Given the description of an element on the screen output the (x, y) to click on. 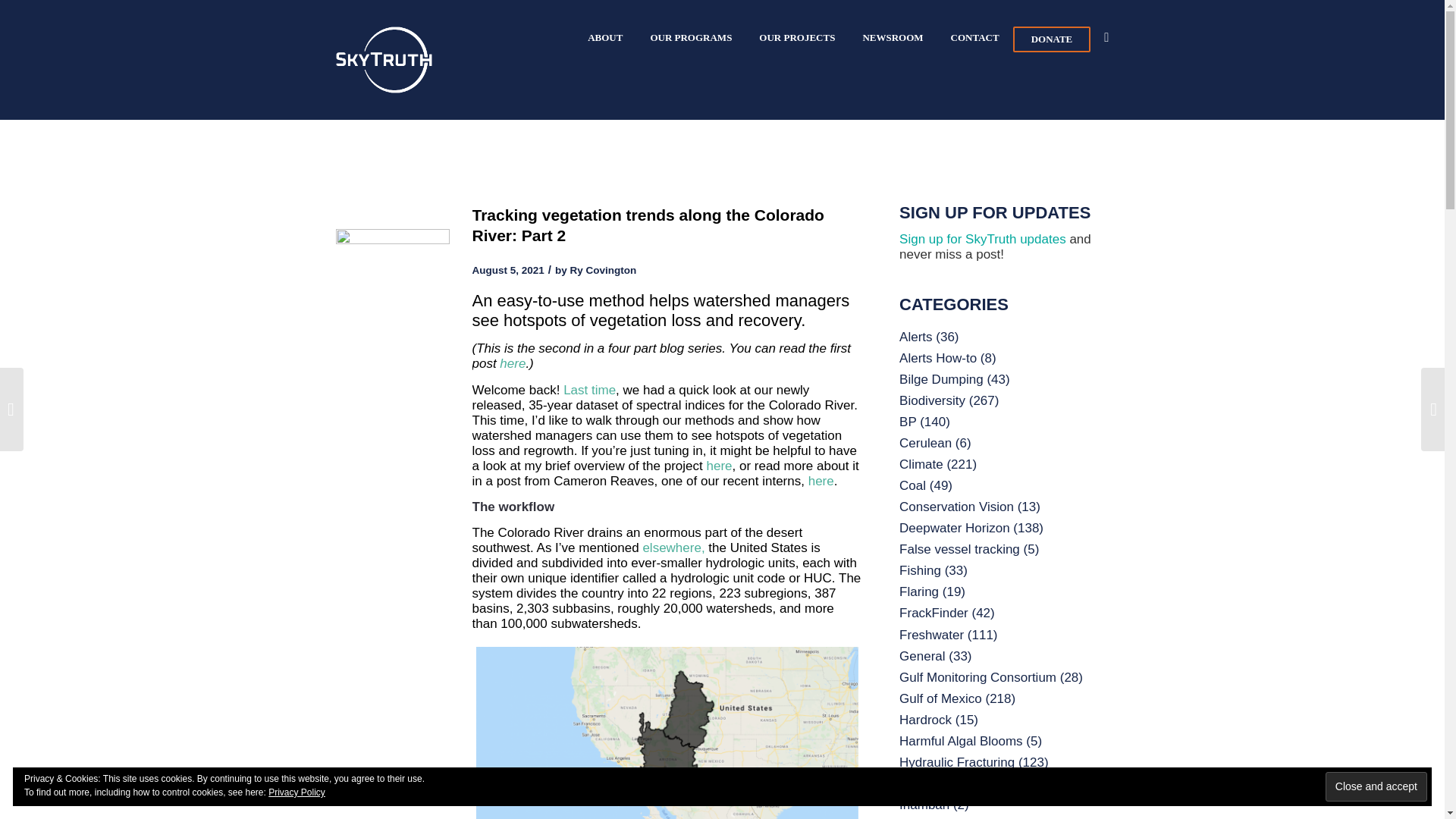
Close and accept (1375, 786)
here (821, 481)
elsewhere, (673, 547)
OUR PROGRAMS (690, 37)
Last time (589, 390)
ABOUT (605, 37)
SkyTruth Header Logo C (382, 59)
here (512, 363)
DONATE (1051, 39)
here (719, 465)
